Given the description of an element on the screen output the (x, y) to click on. 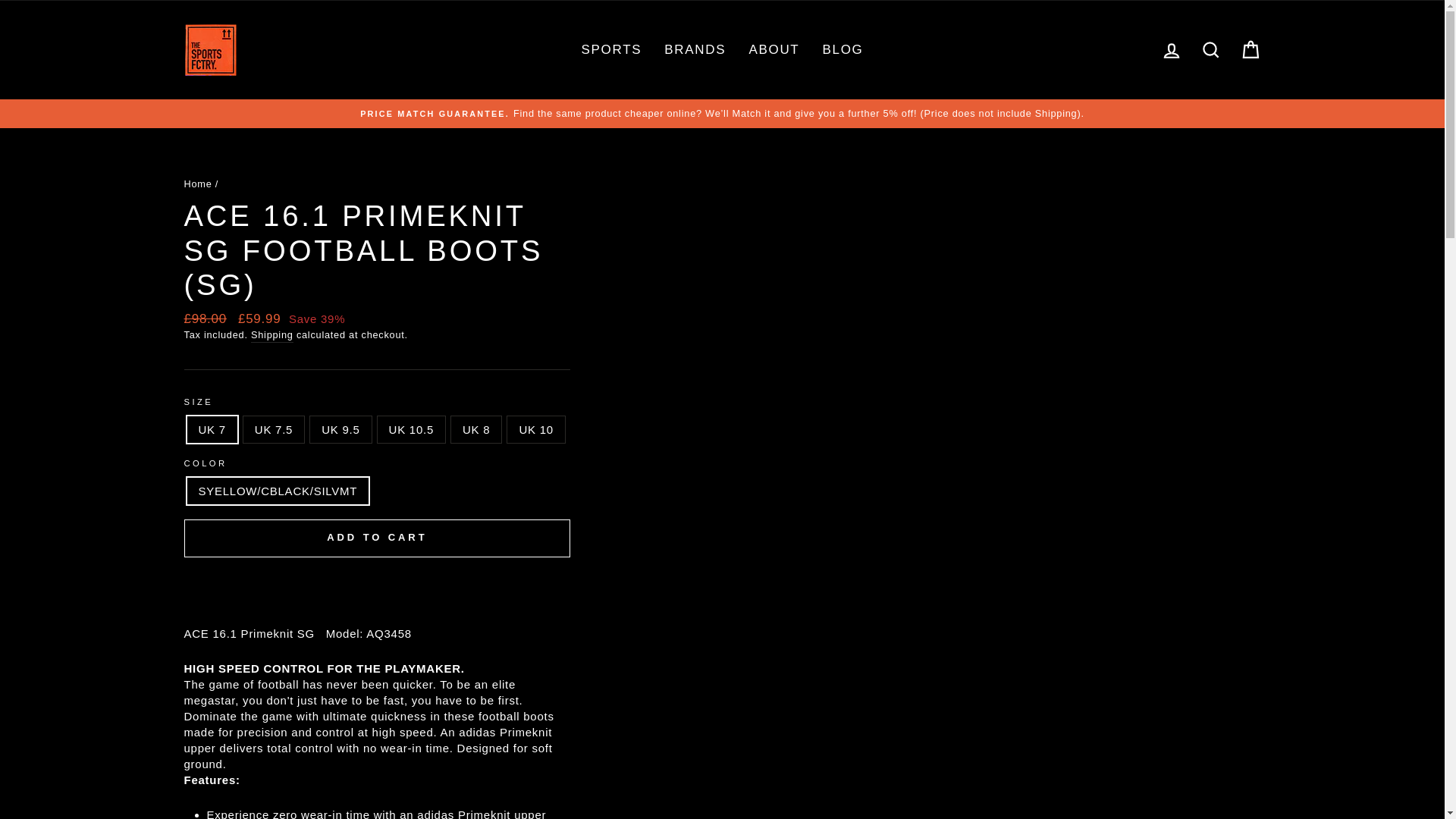
Back to the frontpage (197, 183)
